Given the description of an element on the screen output the (x, y) to click on. 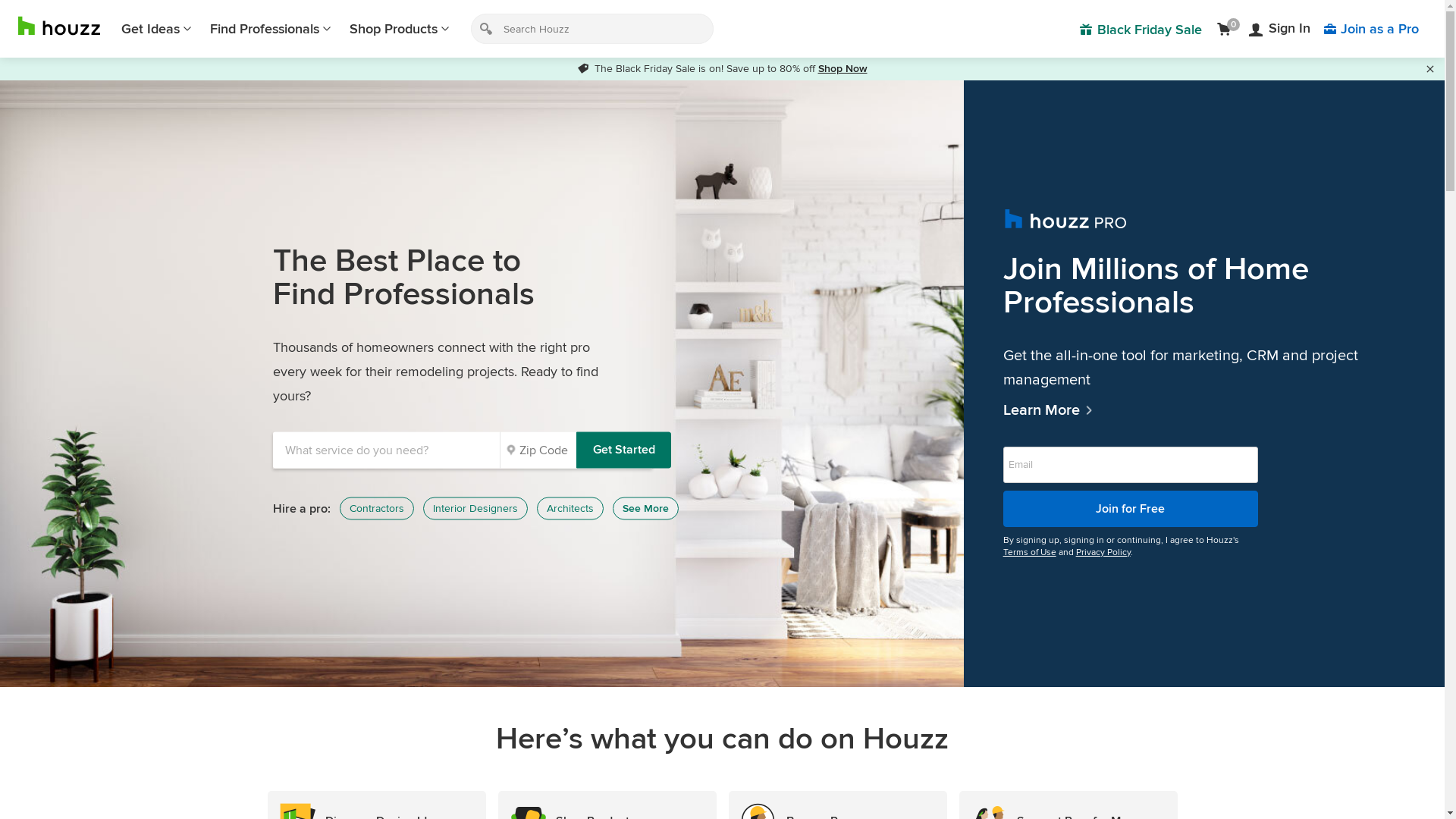
0 Element type: text (1226, 28)
Contractors Element type: text (376, 508)
Learn More Element type: text (1204, 409)
Architects Element type: text (569, 508)
Get Started Element type: text (623, 450)
Join for Free Element type: text (1130, 507)
Terms of Use Element type: text (1029, 551)
Privacy Policy Element type: text (1103, 551)
Find Professionals Element type: text (270, 28)
Sign In Element type: text (1279, 28)
Black Friday Sale Element type: text (1140, 28)
Shop Now Element type: text (841, 68)
Shop Products Element type: text (399, 28)
See More Element type: text (645, 508)
Get Ideas Element type: text (156, 28)
The Black Friday Sale is on! Save up to 80% off  Element type: text (697, 68)
Join as a Pro Element type: text (1371, 27)
Interior Designers Element type: text (475, 508)
